Given the description of an element on the screen output the (x, y) to click on. 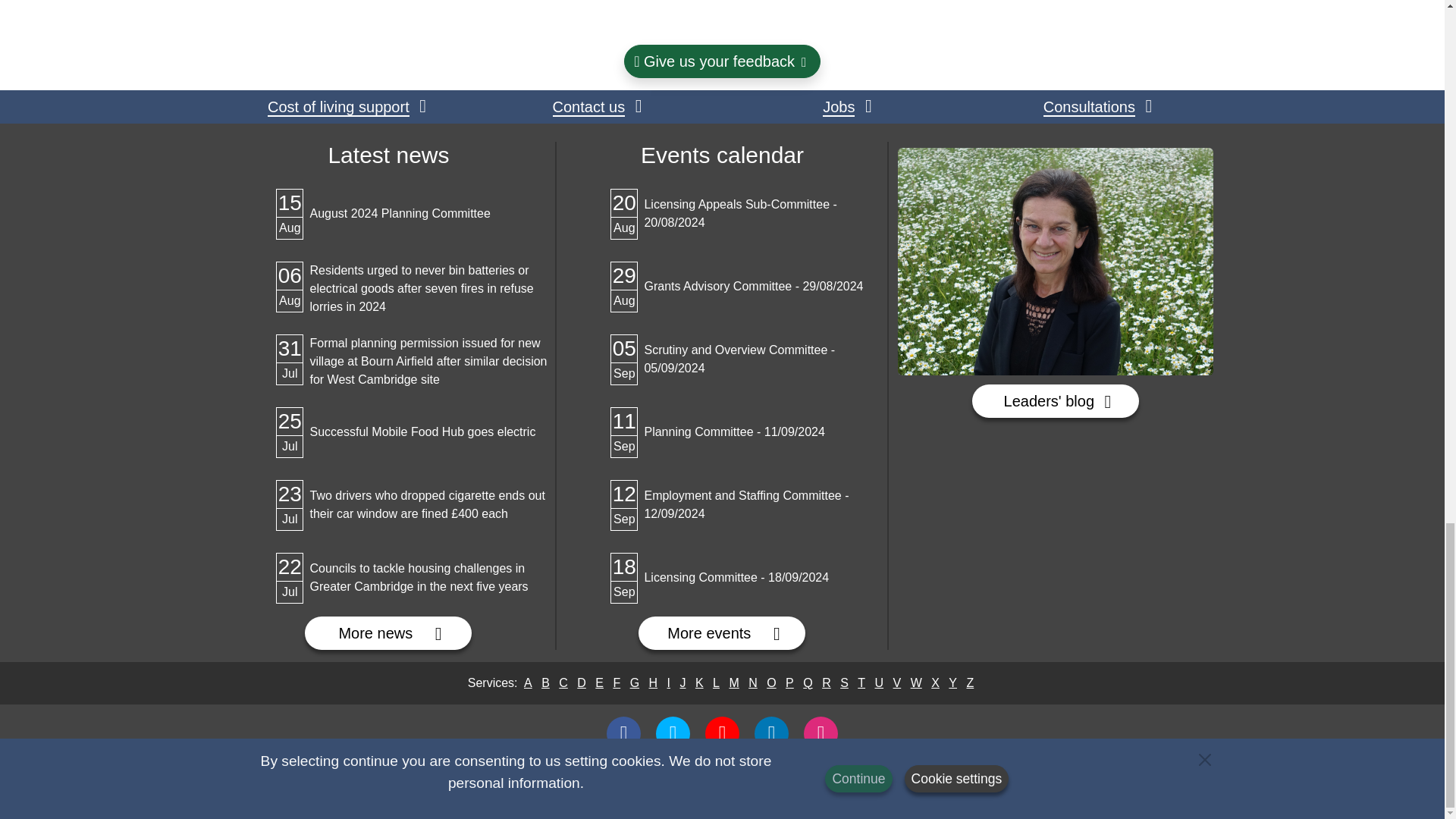
Leaders' blog (387, 213)
More news (1055, 400)
South Cambridgeshire District Council Linkedin Page (387, 633)
Cost of living support (771, 733)
South Cambridgeshire District Council Facebook Link (346, 106)
Consultations (623, 733)
